Given the description of an element on the screen output the (x, y) to click on. 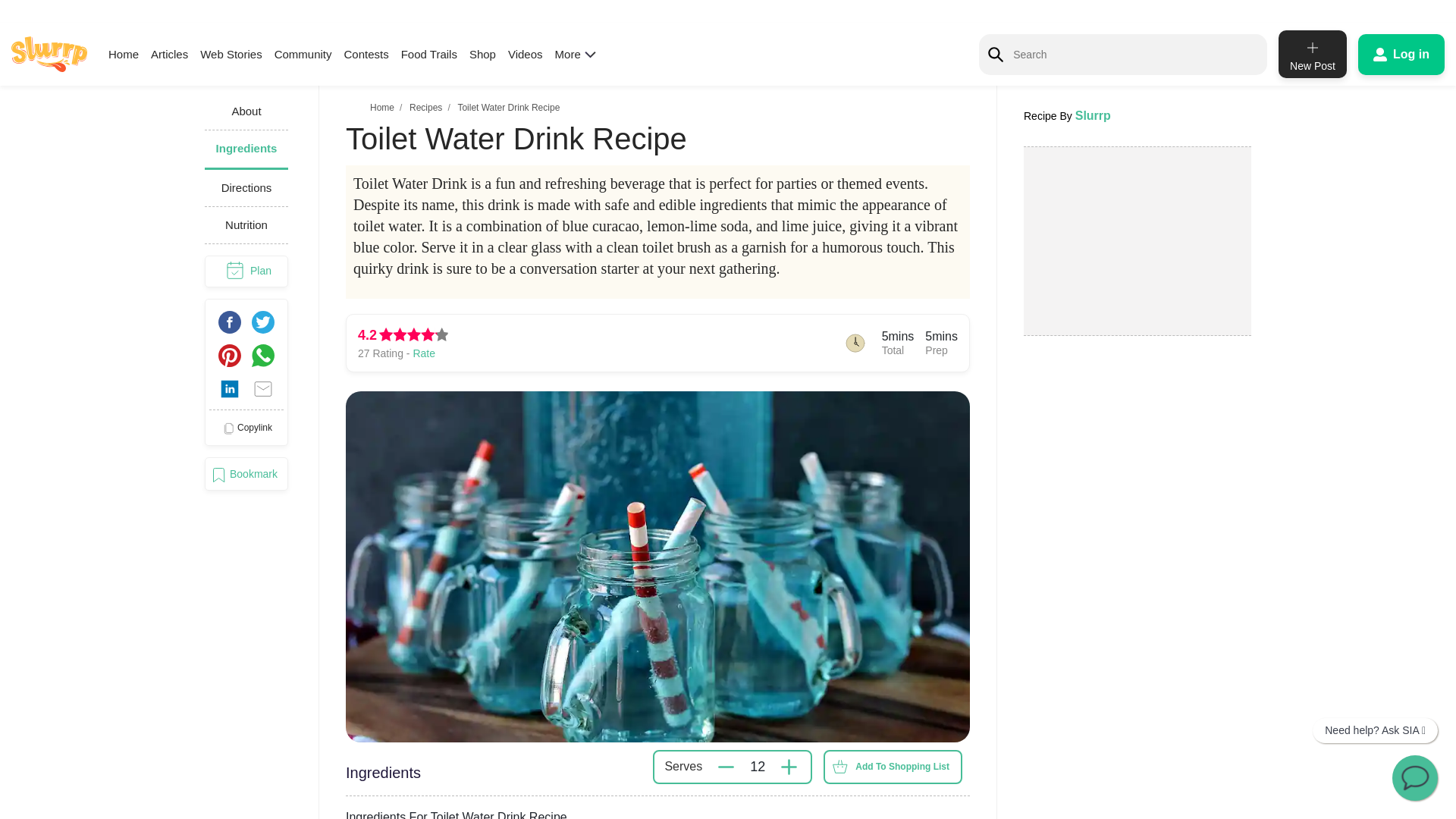
Home (381, 107)
Contests (365, 53)
Videos (525, 53)
Home (122, 53)
Food Trails (429, 53)
Web Stories (231, 53)
user login (1401, 53)
Articles (169, 53)
Shop (482, 53)
New Post (1312, 53)
Recipes (425, 107)
copy link (246, 427)
Community (303, 53)
Log in (1401, 53)
